Given the description of an element on the screen output the (x, y) to click on. 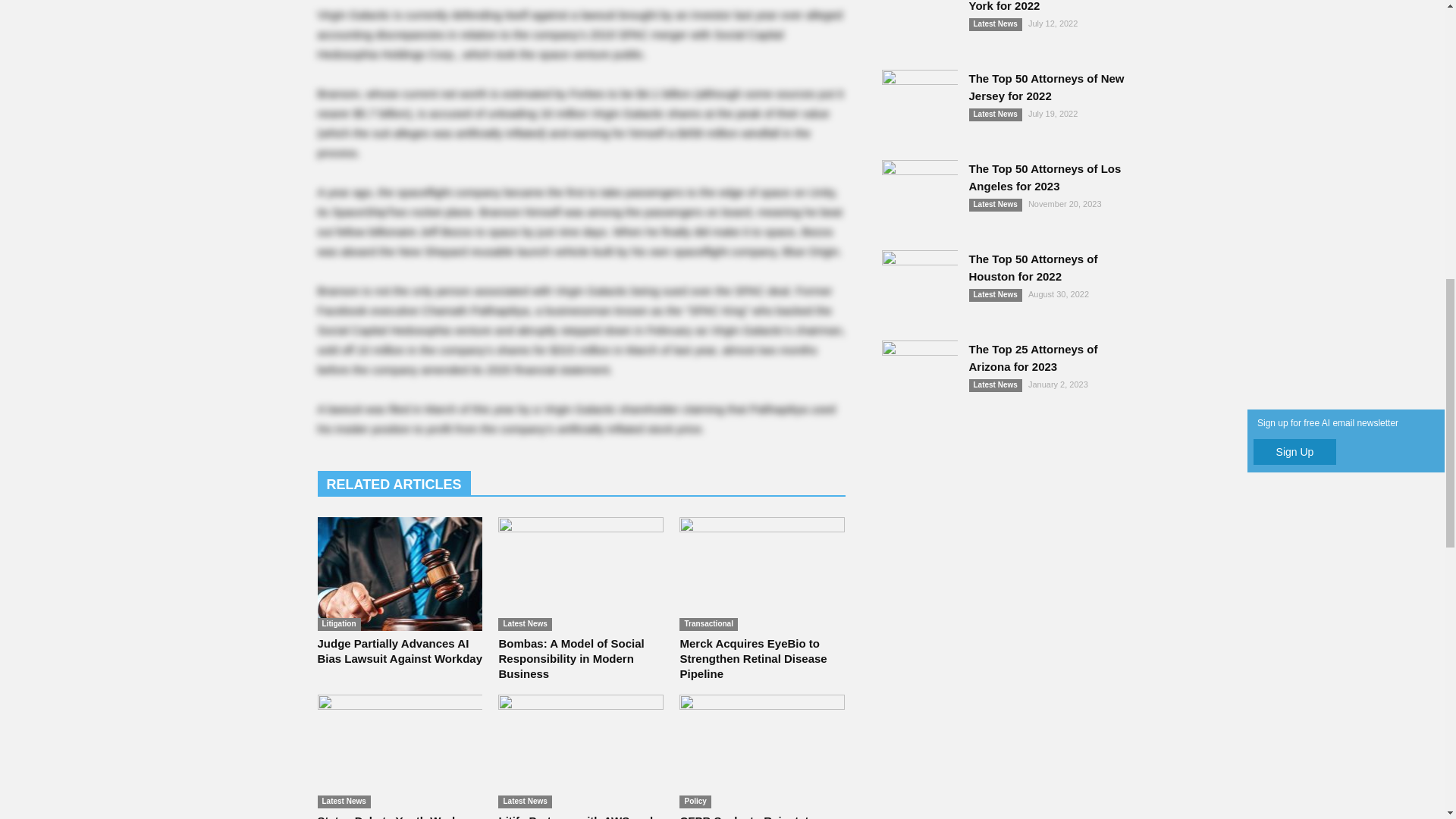
RELATED ARTICLES (393, 482)
Judge Partially Advances AI Bias Lawsuit Against Workday (399, 651)
Judge Partially Advances AI Bias Lawsuit Against Workday (399, 573)
States Debate Youth Work Permits (387, 816)
Merck Acquires EyeBio to Strengthen Retinal Disease Pipeline (753, 658)
Merck Acquires EyeBio to Strengthen Retinal Disease Pipeline (761, 573)
Bombas: A Model of Social Responsibility in Modern Business (580, 573)
Bombas: A Model of Social Responsibility in Modern Business (570, 658)
States Debate Youth Work Permits (399, 751)
